Given the description of an element on the screen output the (x, y) to click on. 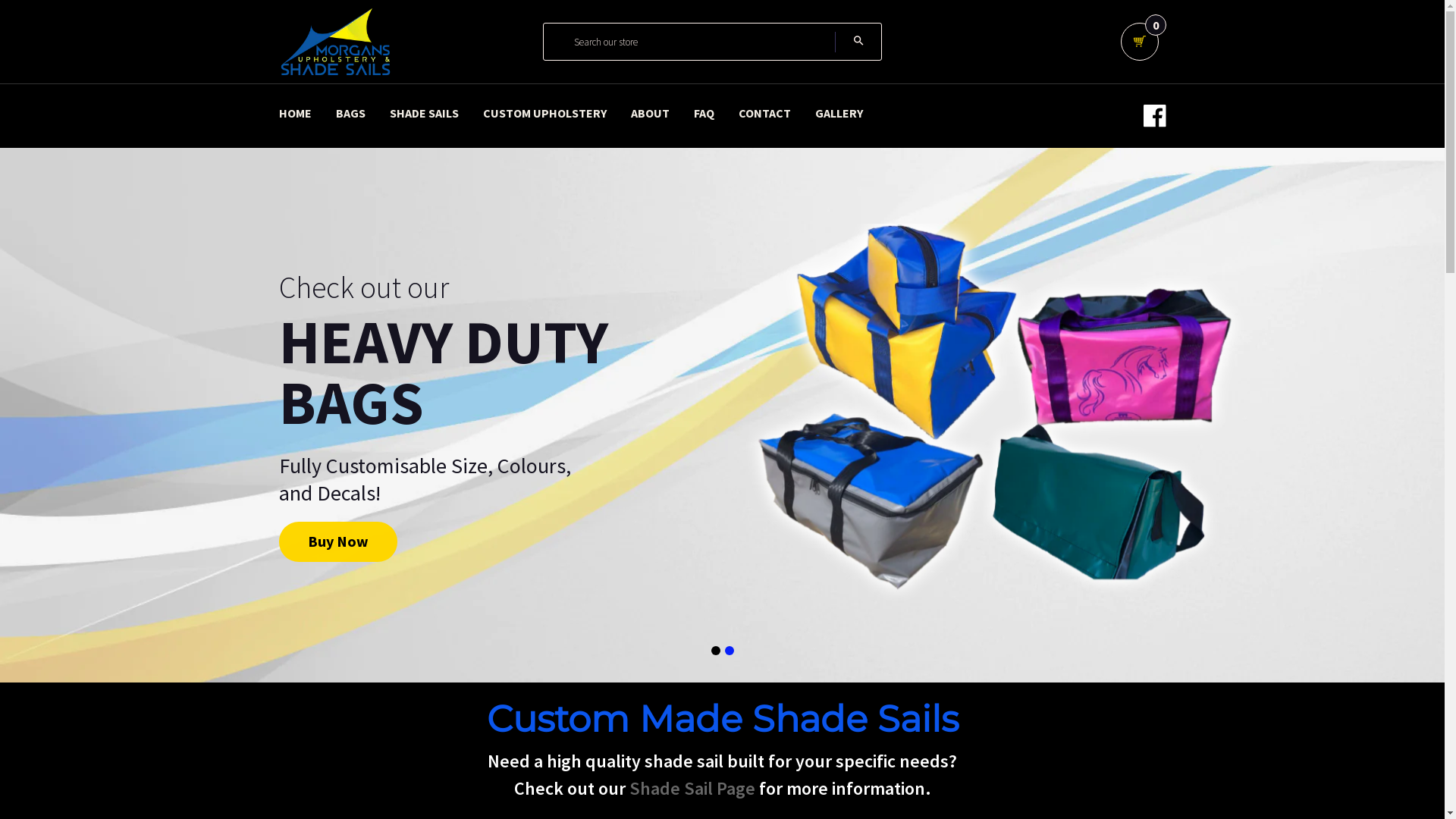
0 Element type: text (1139, 41)
BAGS Element type: text (349, 112)
SHADE SAILS Element type: text (423, 112)
CONTACT Element type: text (764, 112)
CUSTOM UPHOLSTERY Element type: text (543, 112)
Buy Now Element type: text (338, 548)
FAQ Element type: text (703, 112)
GALLERY Element type: text (838, 112)
HOME Element type: text (295, 112)
ABOUT Element type: text (649, 112)
Shade Sail Page Element type: text (694, 788)
